Given the description of an element on the screen output the (x, y) to click on. 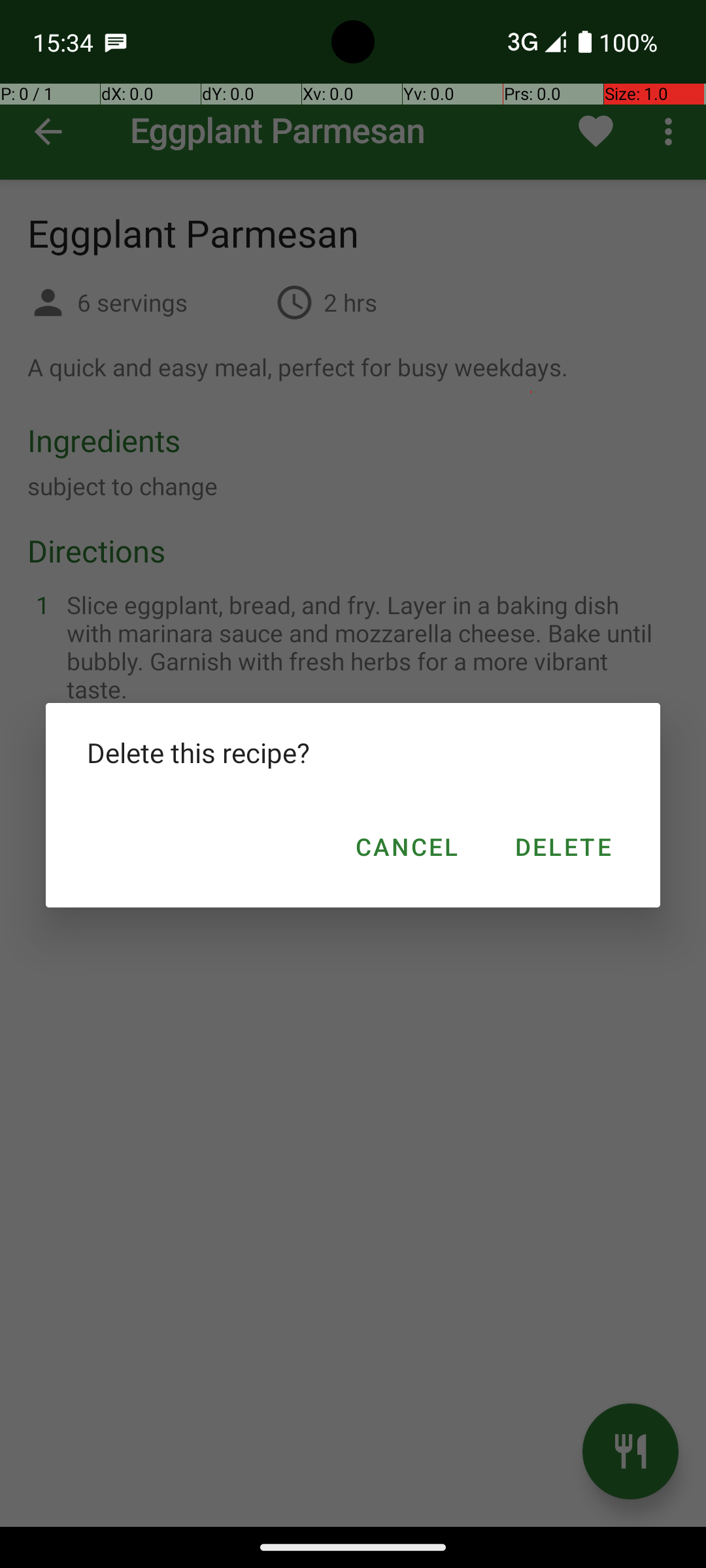
Delete this recipe? Element type: android.widget.TextView (352, 751)
DELETE Element type: android.widget.Button (562, 846)
